Given the description of an element on the screen output the (x, y) to click on. 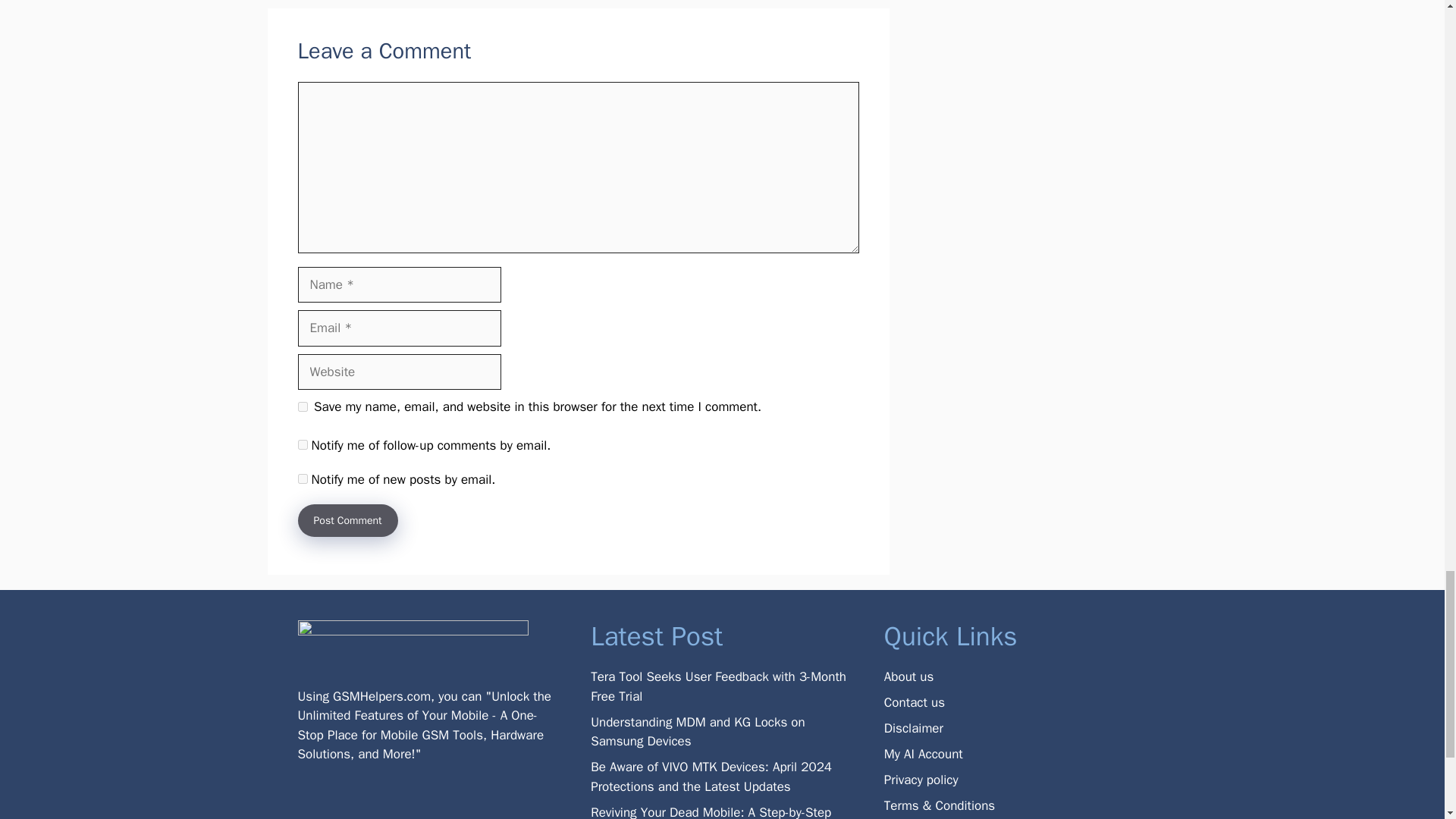
Post Comment (347, 520)
yes (302, 406)
subscribe (302, 444)
subscribe (302, 479)
